Given the description of an element on the screen output the (x, y) to click on. 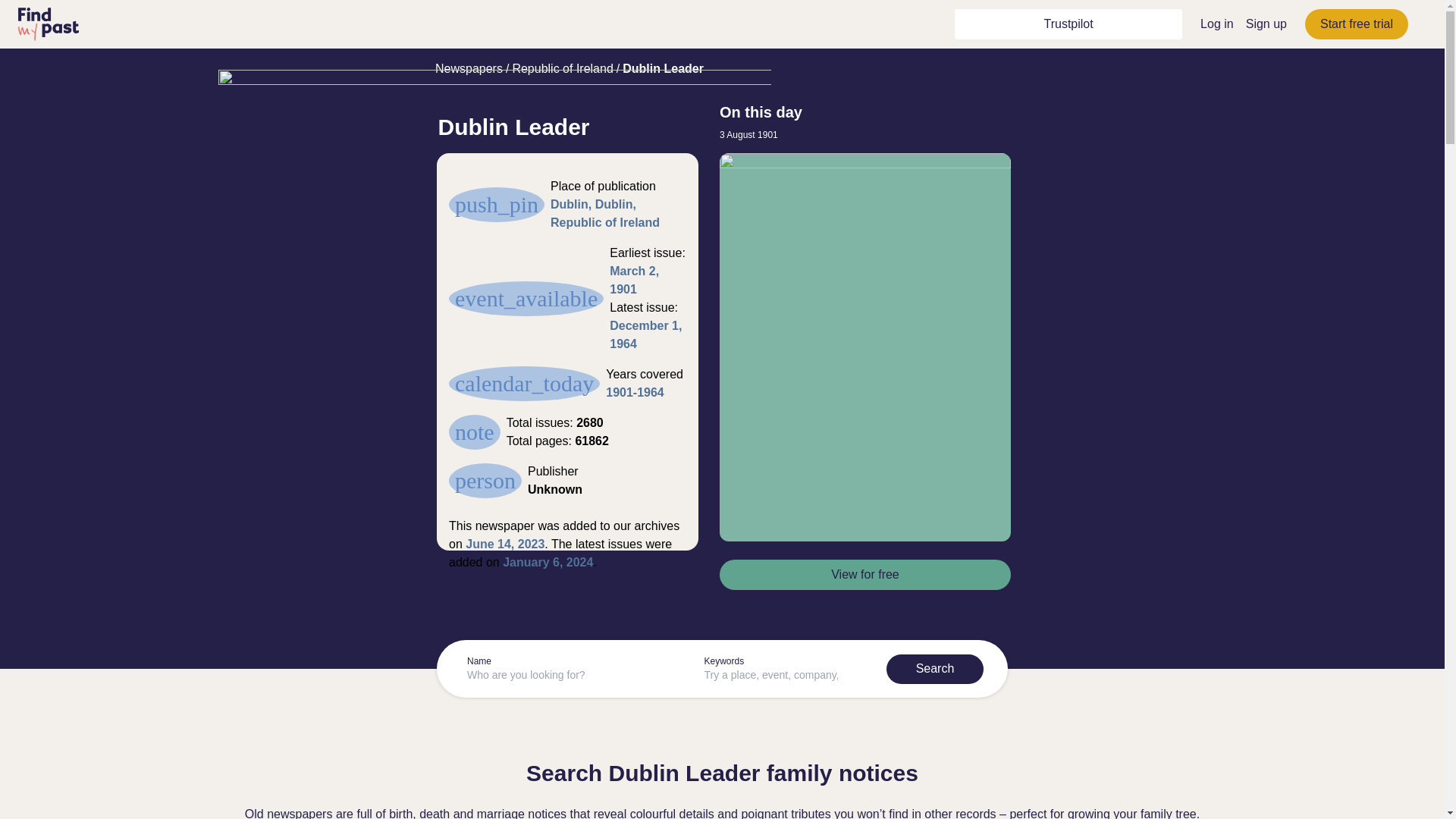
December 1, 1964 (645, 334)
January 6, 2024 (547, 562)
1901-1964 (634, 391)
View for free (864, 574)
Republic of Ireland (562, 68)
Sign up (1266, 23)
Newspapers (468, 68)
June 14, 2023 (504, 543)
Start free trial (1355, 24)
Log in (1216, 23)
March 2, 1901 (634, 279)
Search (935, 668)
Trustpilot (1068, 23)
Dublin, Dublin, Republic of Ireland (604, 213)
